Given the description of an element on the screen output the (x, y) to click on. 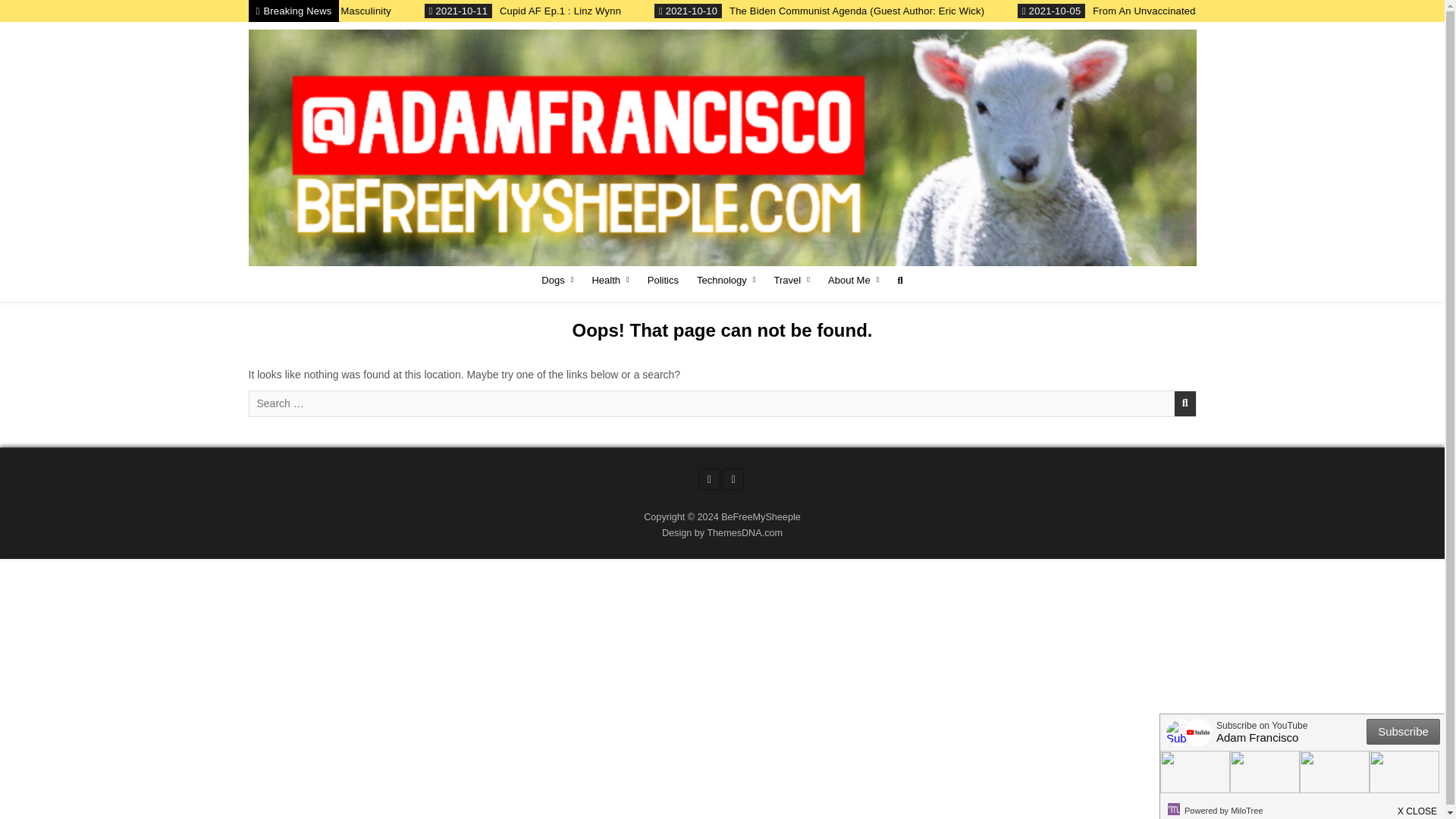
Permanent Link to Cupid AF Ep.1 : Linz Wynn (637, 10)
Technology (726, 280)
Health (609, 280)
Politics (663, 280)
Travel (791, 280)
 2021-10-11 Cupid AF Ep.1 : Linz Wynn (719, 10)
BeFreeMySheeple (320, 273)
Dogs (557, 280)
